Given the description of an element on the screen output the (x, y) to click on. 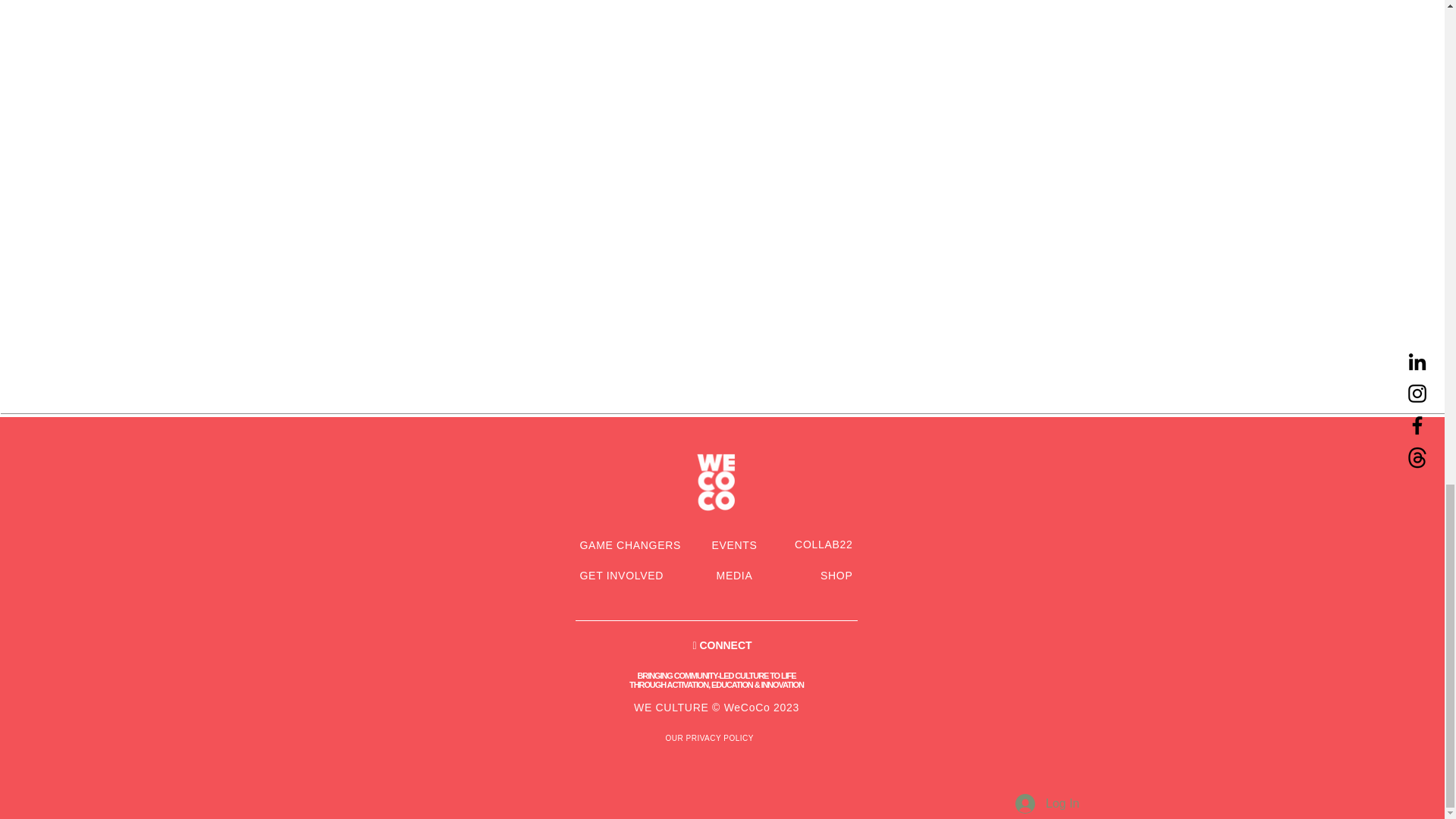
COLLAB22 (822, 544)
SHOP (836, 575)
OUR PRIVACY POLICY (709, 737)
GET INVOLVED (621, 575)
EVENTS (734, 544)
MEDIA (734, 575)
GAME CHANGERS (630, 544)
WE CULTURE (671, 707)
Log In (1046, 803)
